Given the description of an element on the screen output the (x, y) to click on. 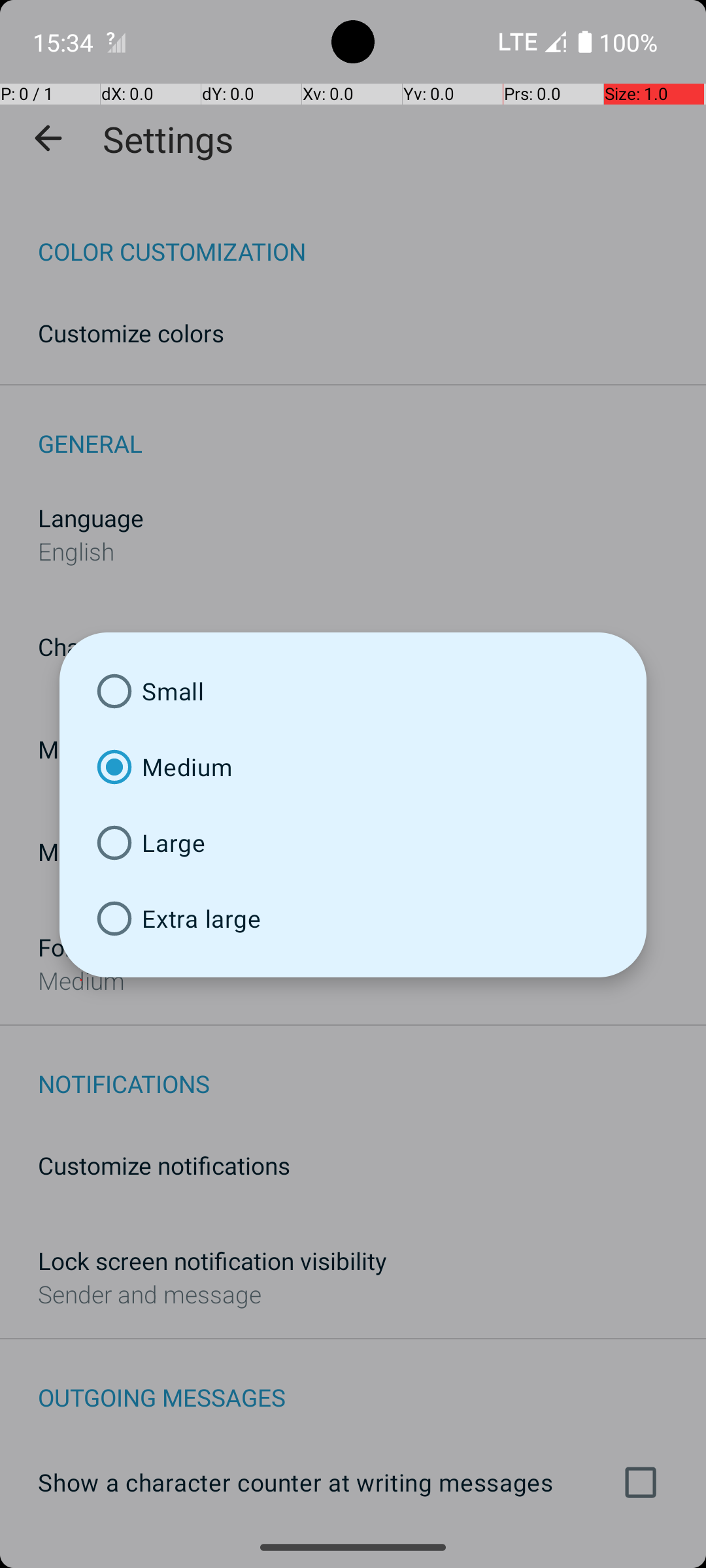
Small Element type: android.widget.RadioButton (352, 691)
Medium Element type: android.widget.RadioButton (352, 766)
Large Element type: android.widget.RadioButton (352, 842)
Extra large Element type: android.widget.RadioButton (352, 918)
